Given the description of an element on the screen output the (x, y) to click on. 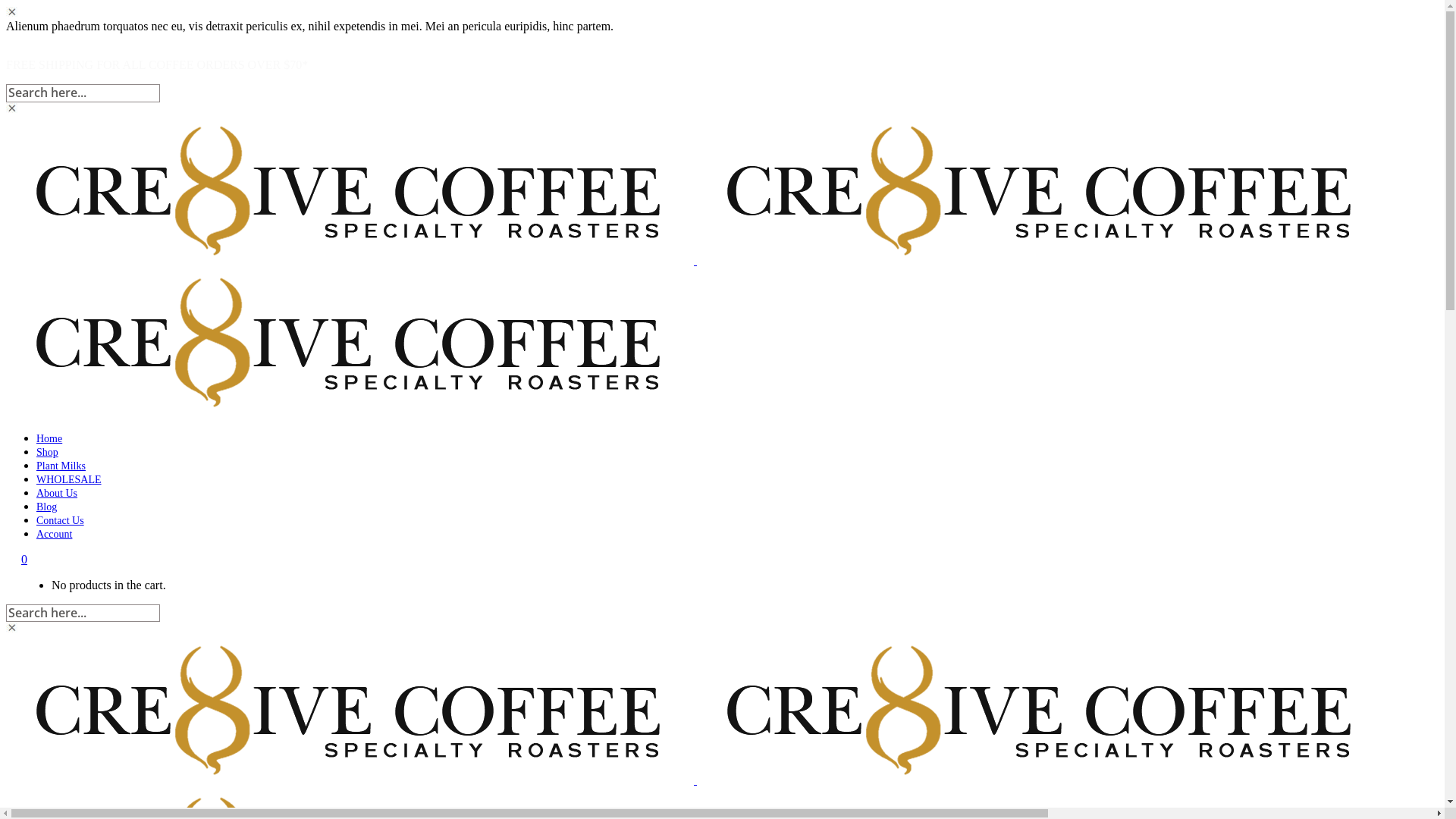
WHOLESALE Element type: text (68, 479)
Plant Milks Element type: text (60, 465)
Home Element type: text (49, 438)
Account Element type: text (54, 533)
About Us Element type: text (56, 492)
0 Element type: text (24, 558)
Shop Element type: text (47, 452)
Blog Element type: text (46, 506)
Contact Us Element type: text (60, 520)
